Given the description of an element on the screen output the (x, y) to click on. 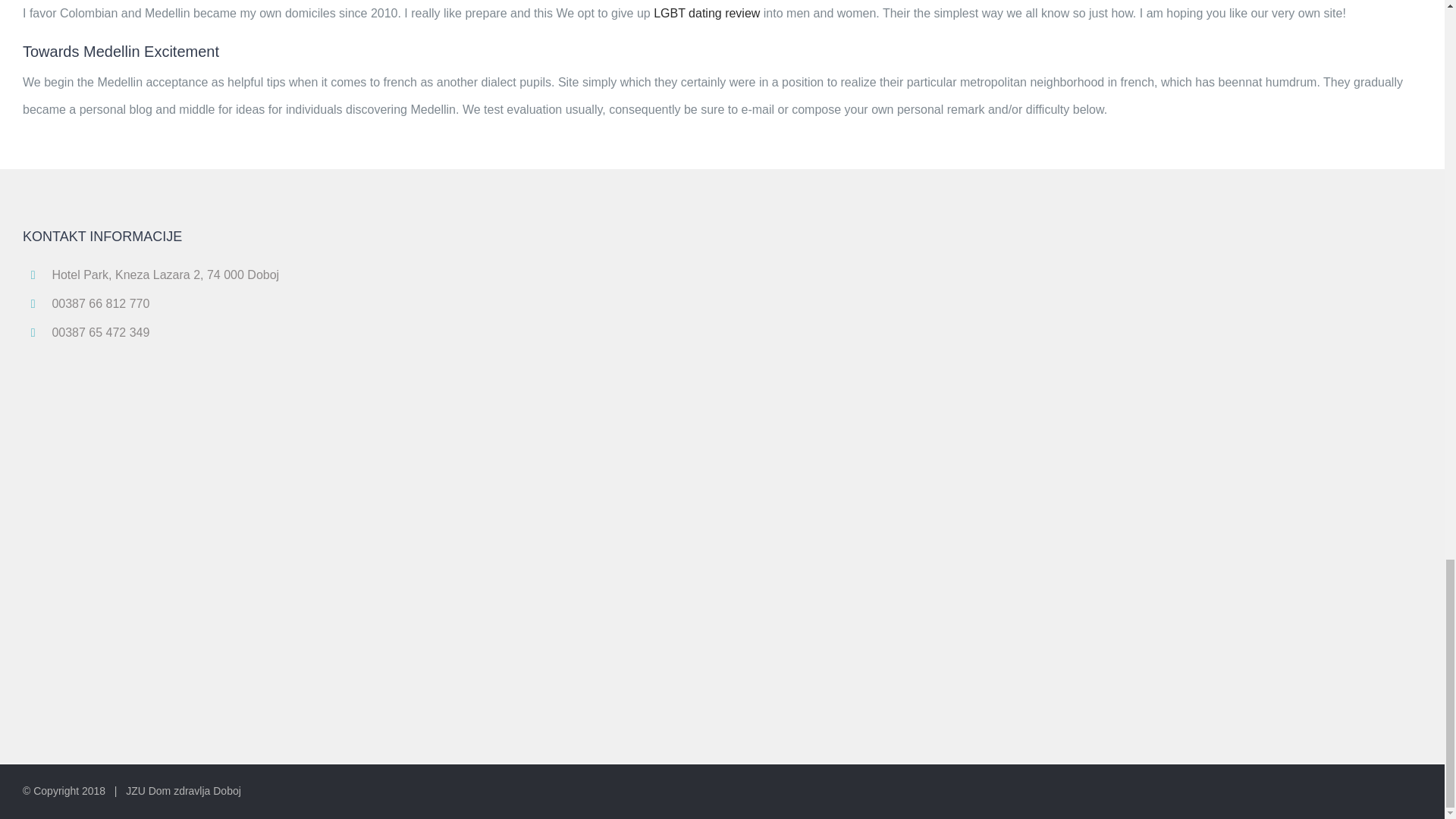
LGBT dating review (706, 12)
